Given the description of an element on the screen output the (x, y) to click on. 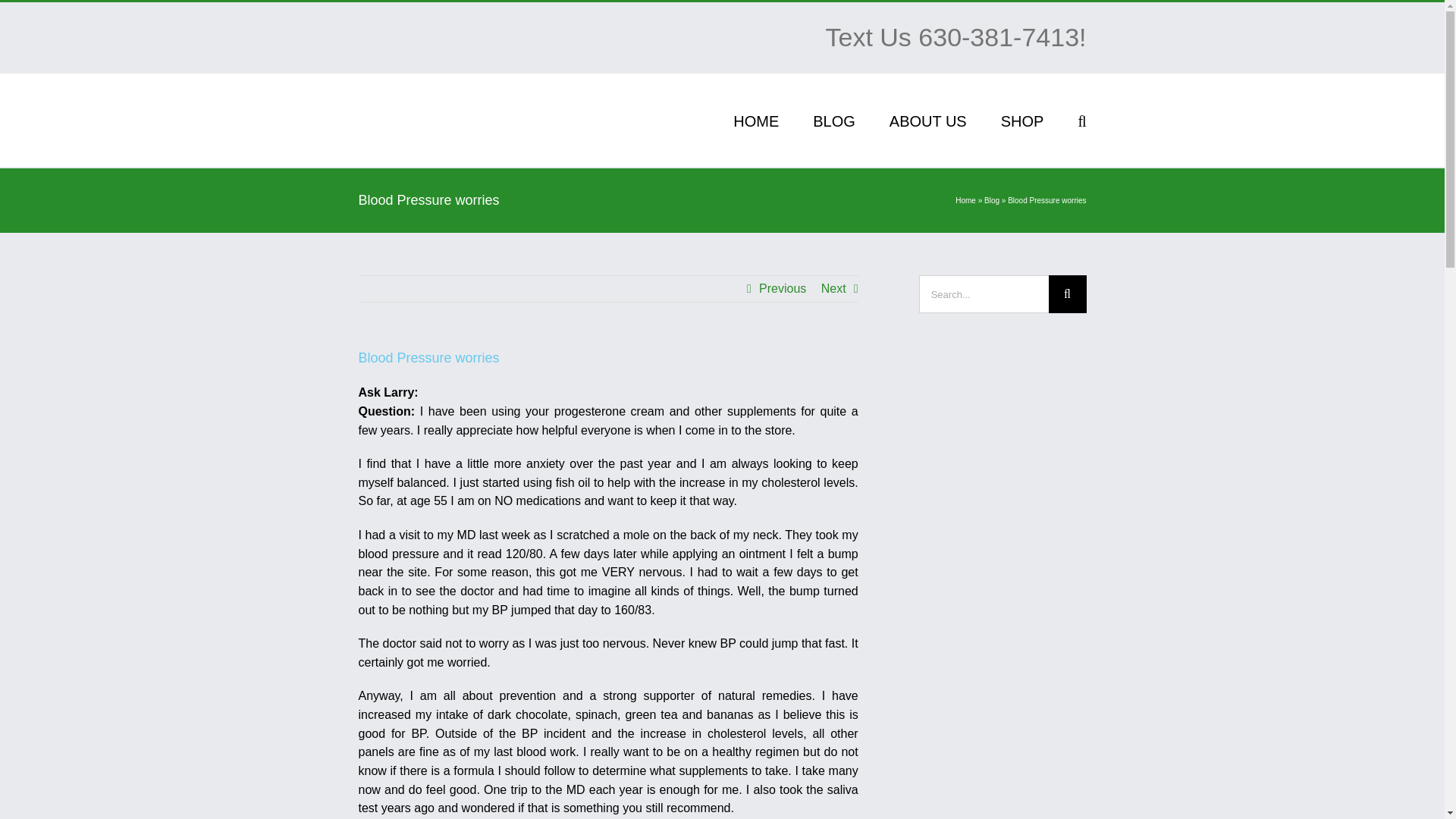
Previous (782, 289)
Next (833, 289)
Blog (991, 200)
Home (965, 200)
Text Us 630-381-7413! (955, 36)
